Given the description of an element on the screen output the (x, y) to click on. 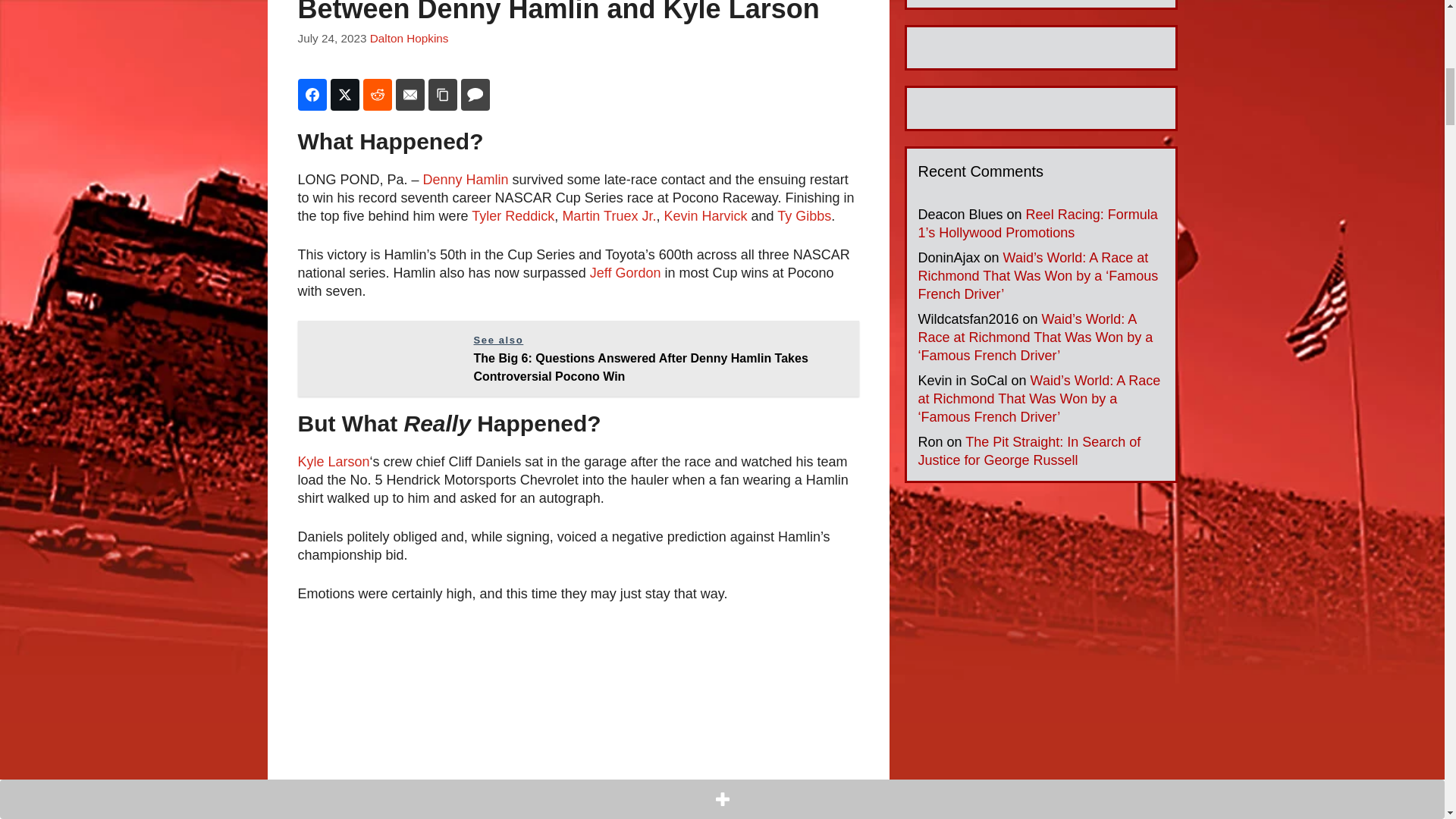
Share on Comments (475, 94)
Share on Twitter (344, 94)
Kevin Harvick (704, 215)
Jeff Gordon (625, 272)
Ty Gibbs (804, 215)
Share on Facebook (311, 94)
Kyle Larson (333, 461)
Share on Reddit (376, 94)
Dalton Hopkins (408, 38)
Share on Email (410, 94)
Tyler Reddick (512, 215)
Martin Truex Jr. (609, 215)
Denny Hamlin (465, 179)
